Given the description of an element on the screen output the (x, y) to click on. 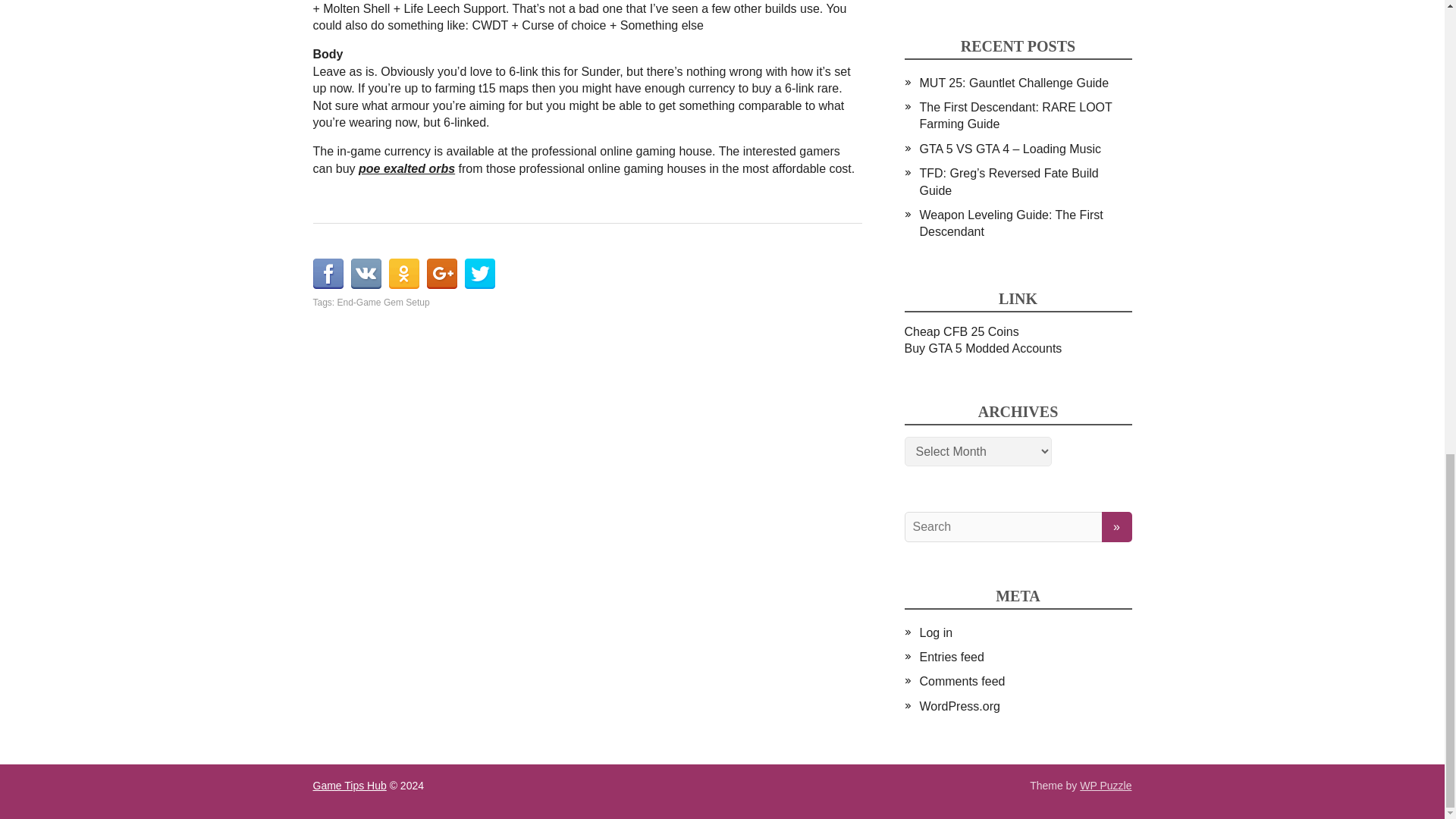
Share in VK (365, 273)
Share in OK (403, 273)
Share in Twitter (479, 273)
poe exalted orbs (406, 168)
End-Game Gem Setup (383, 302)
Share in Facebook (327, 273)
